Given the description of an element on the screen output the (x, y) to click on. 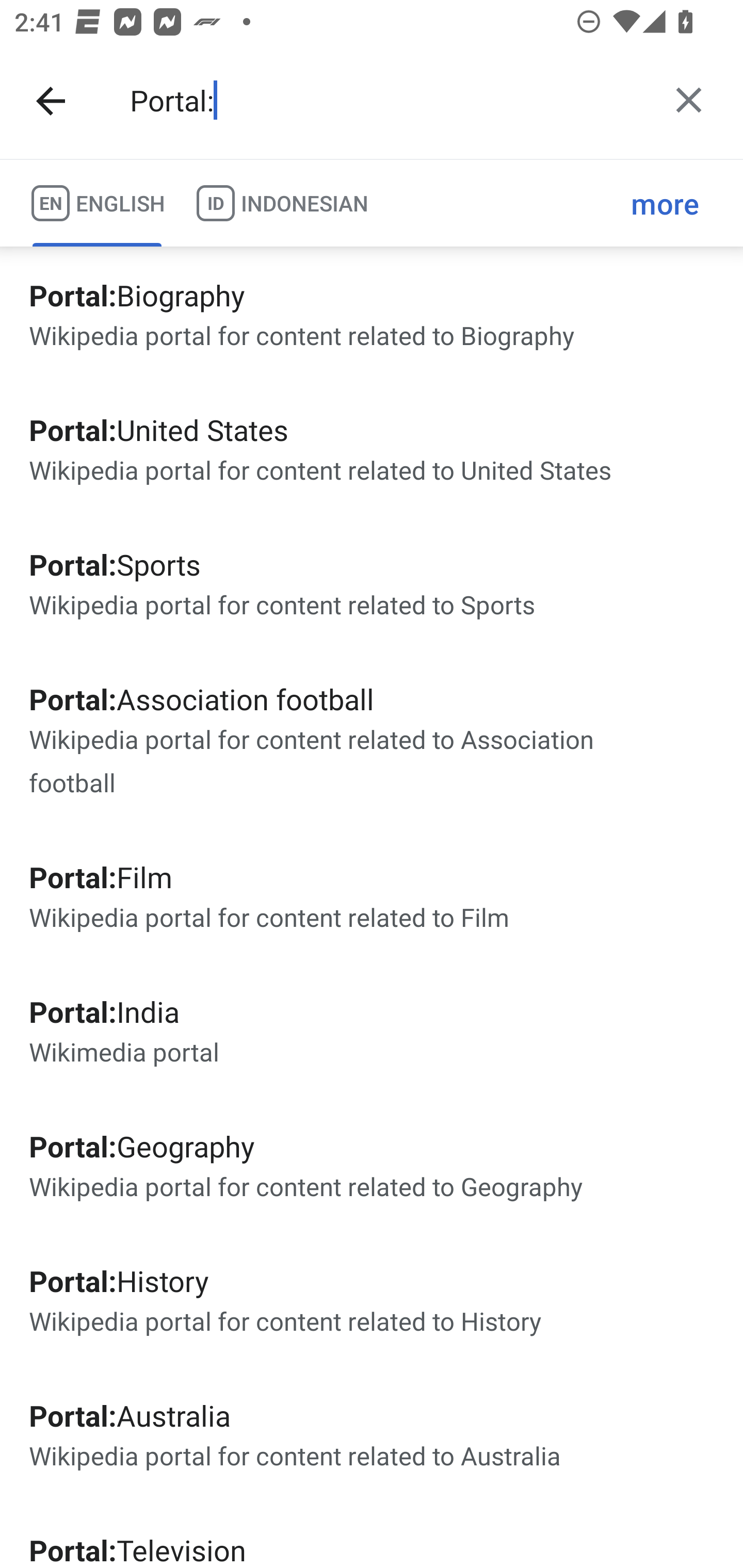
Navigate up (50, 101)
Portal: (383, 100)
Clear query (688, 99)
ID INDONESIAN (281, 202)
more (664, 202)
Portal:India Wikimedia portal (371, 1029)
Portal:Television (371, 1535)
